Given the description of an element on the screen output the (x, y) to click on. 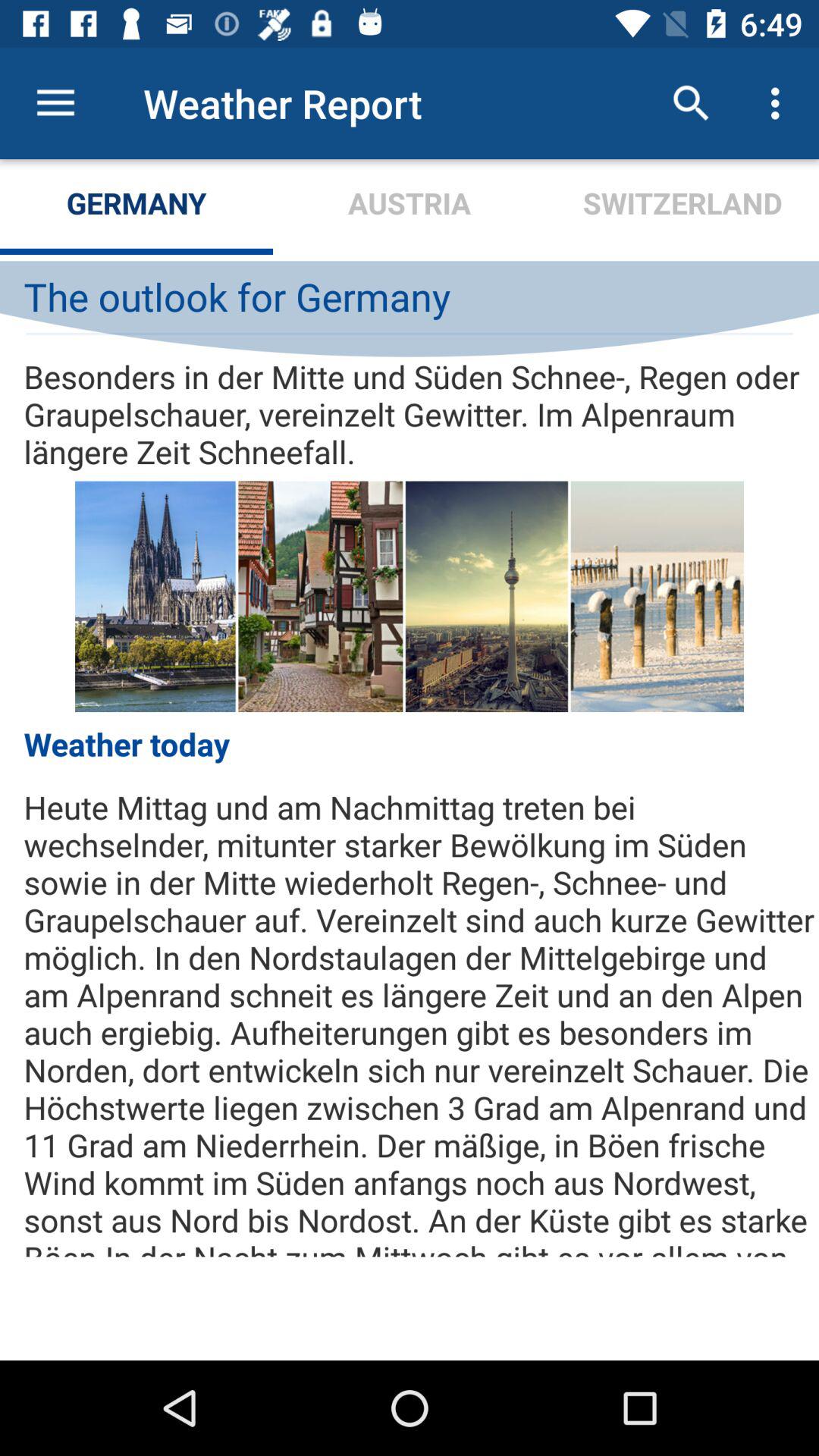
flip until the austria (409, 206)
